Given the description of an element on the screen output the (x, y) to click on. 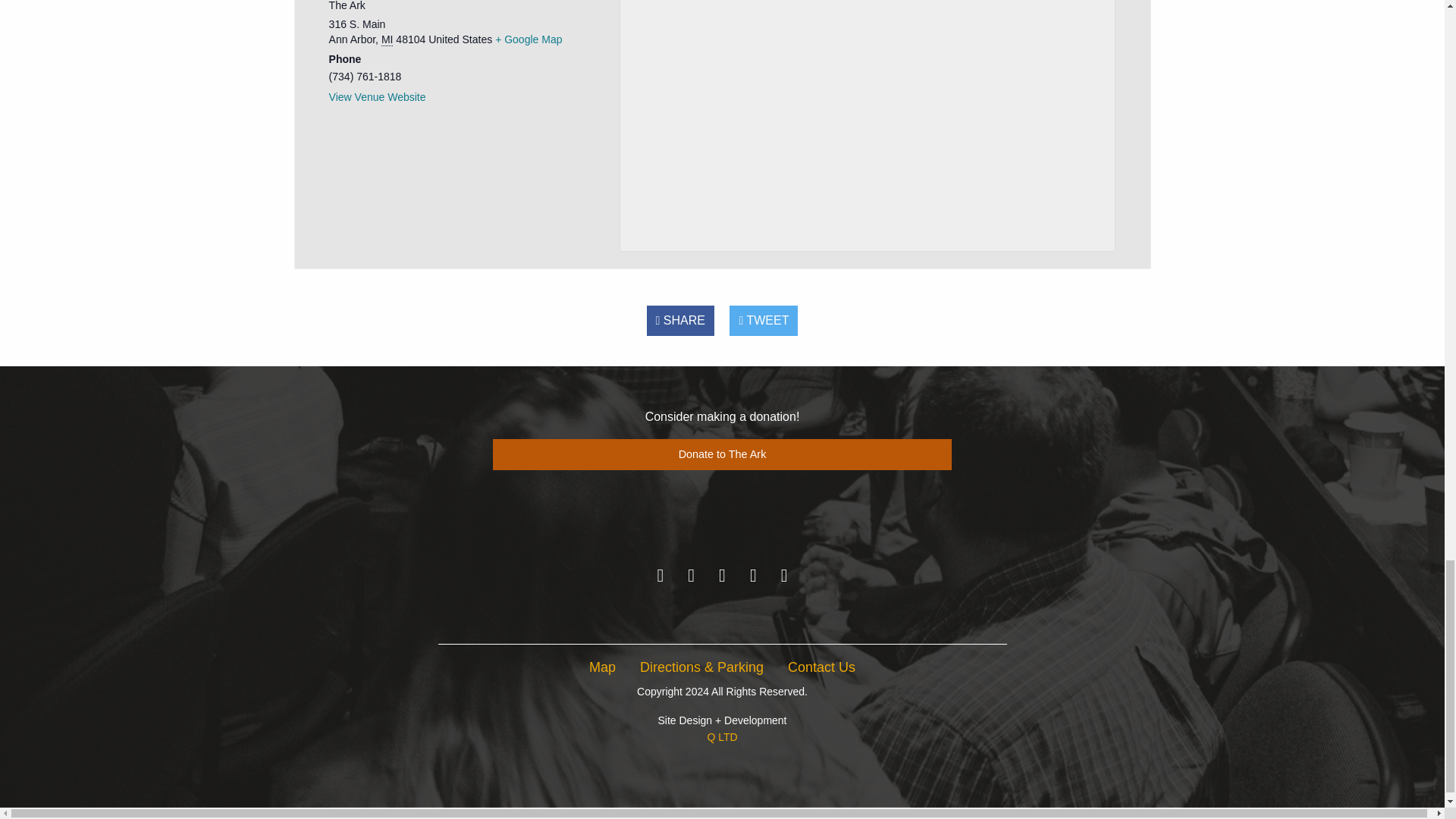
Michigan (387, 39)
Click to view a Google Map (528, 39)
Google maps iframe displaying the address to The Ark (867, 121)
